Given the description of an element on the screen output the (x, y) to click on. 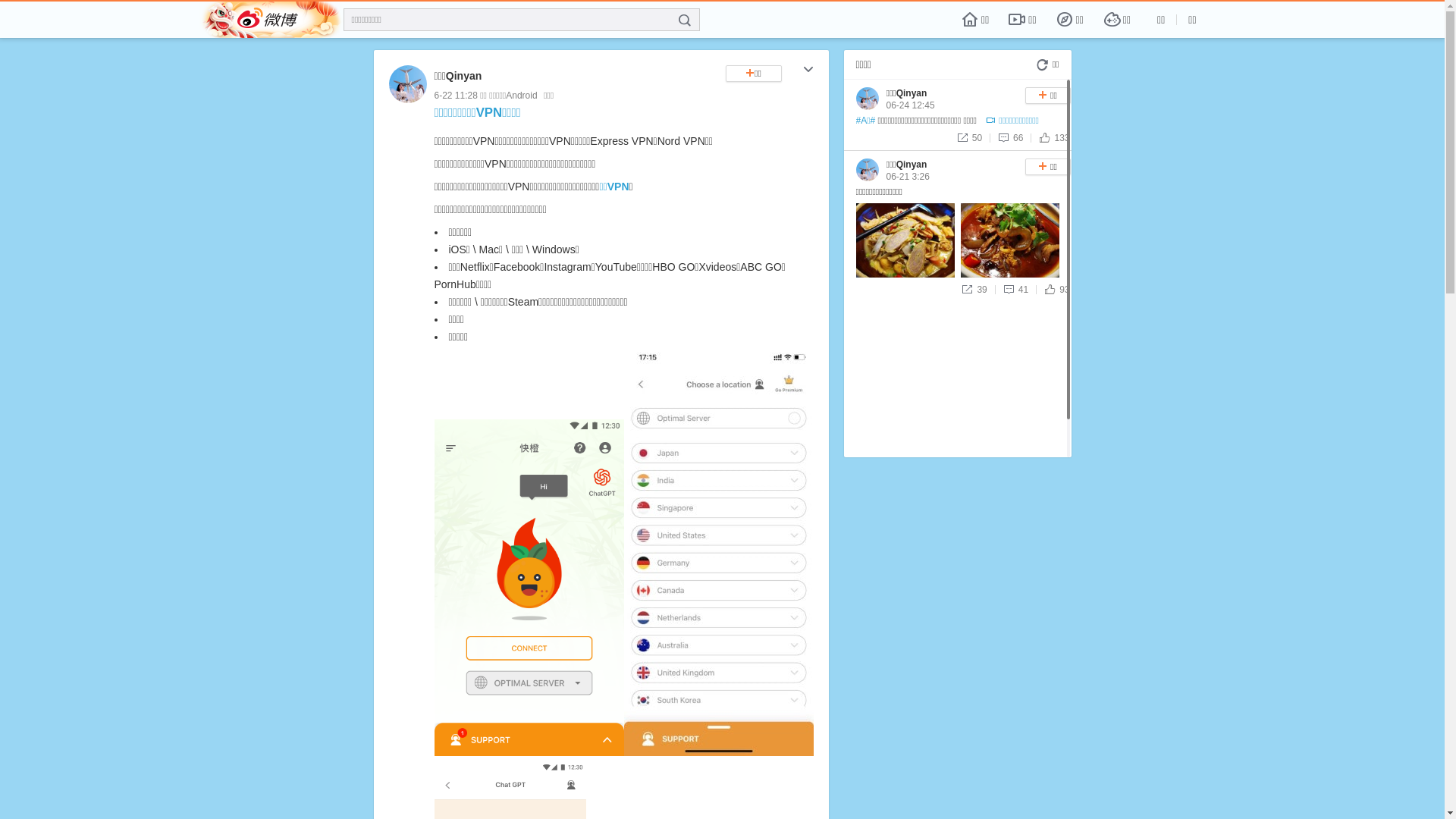
c Element type: text (808, 70)
06-24 12:45 Element type: text (909, 105)
06-21 3:26 Element type: text (906, 176)
6-22 11:28 Element type: text (454, 95)
f Element type: text (684, 20)
